Given the description of an element on the screen output the (x, y) to click on. 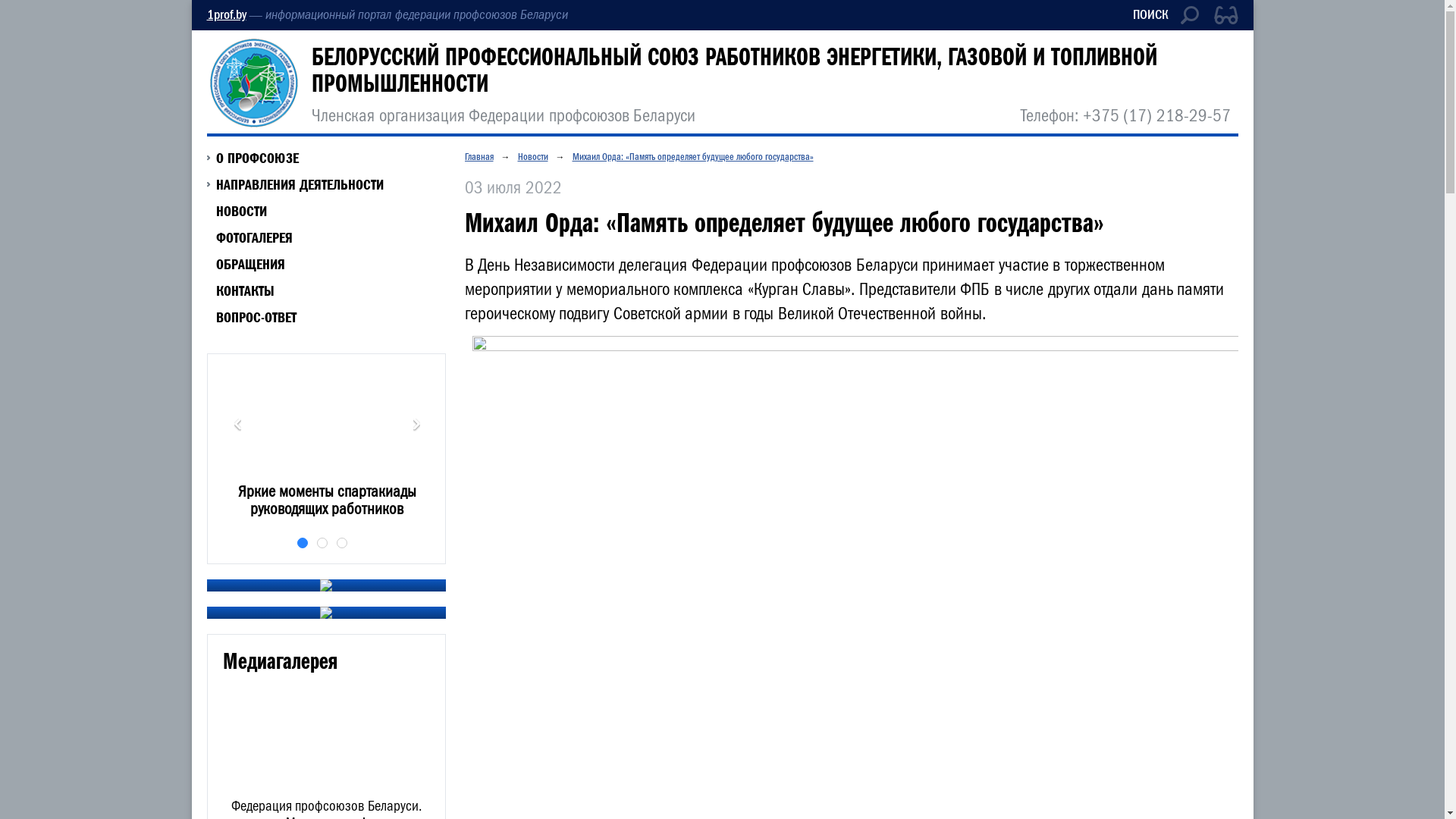
Next Element type: text (415, 424)
1 Element type: text (302, 542)
3 Element type: text (341, 542)
2 Element type: text (321, 542)
Previous Element type: text (236, 424)
1prof.by Element type: text (225, 14)
